Given the description of an element on the screen output the (x, y) to click on. 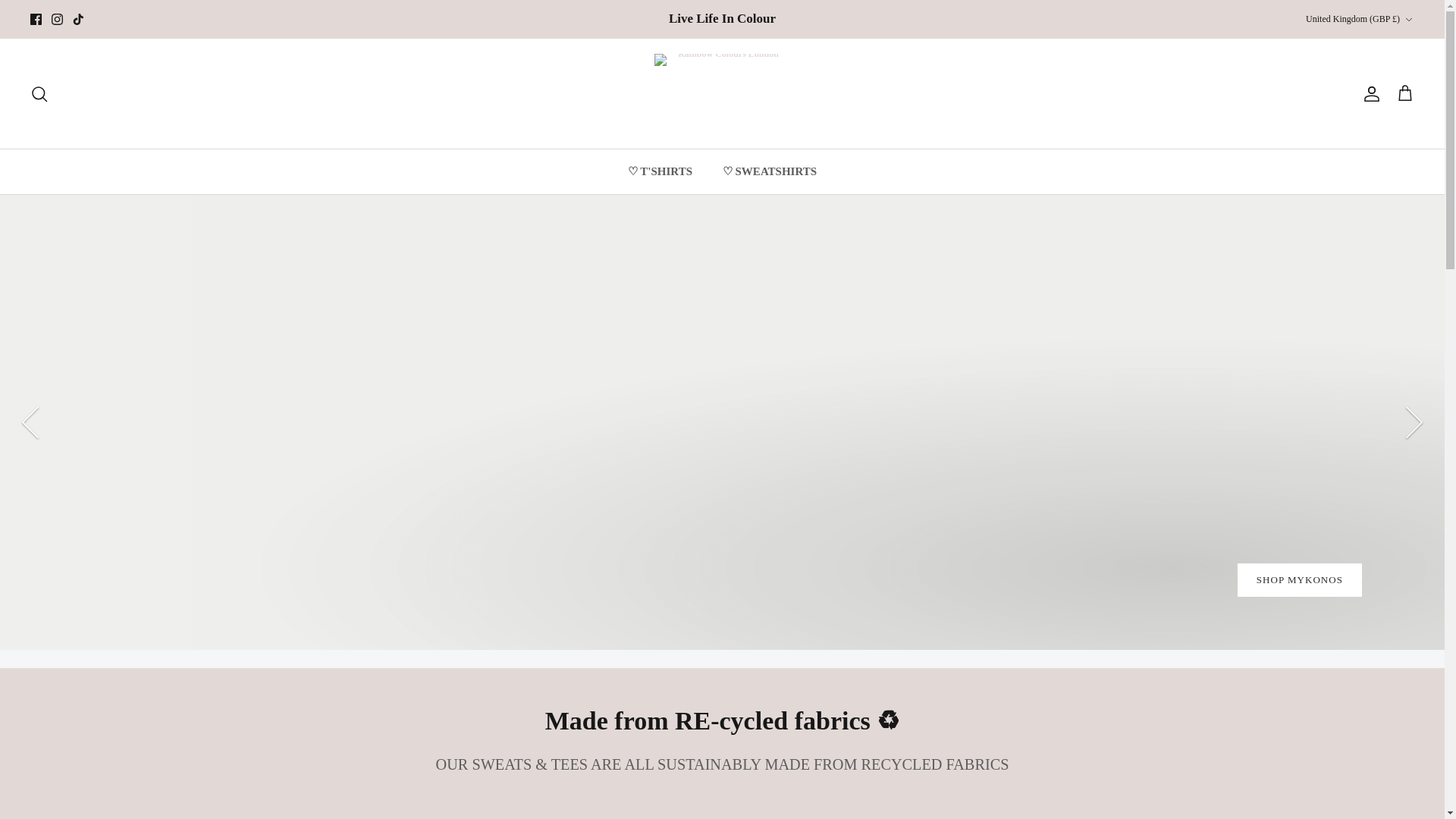
Rainbow Colours London (721, 93)
Facebook (36, 19)
Instagram (56, 19)
Instagram (56, 19)
Down (1408, 19)
LEFT (30, 422)
Facebook (36, 19)
